Given the description of an element on the screen output the (x, y) to click on. 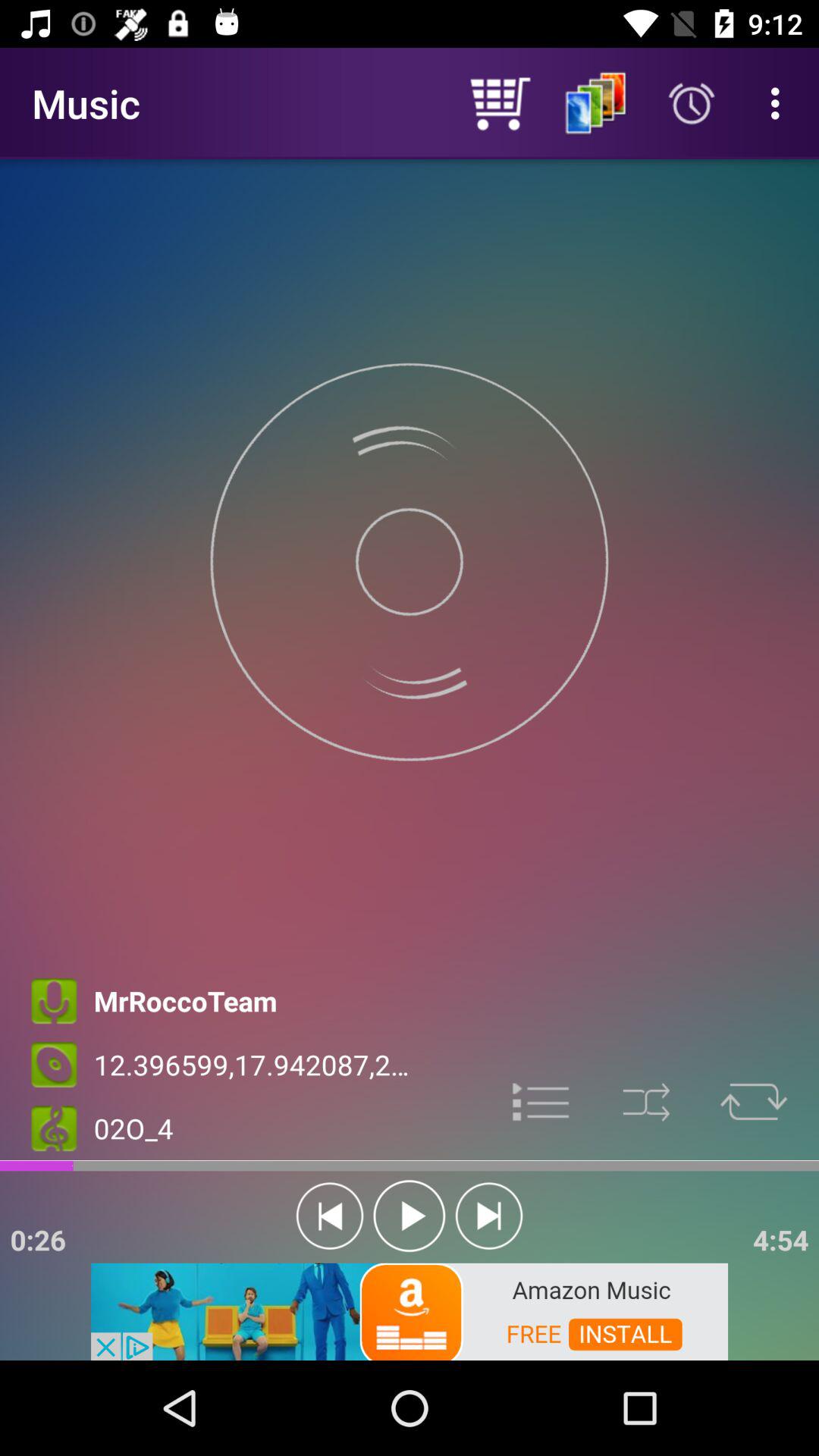
download different app (409, 1310)
